Given the description of an element on the screen output the (x, y) to click on. 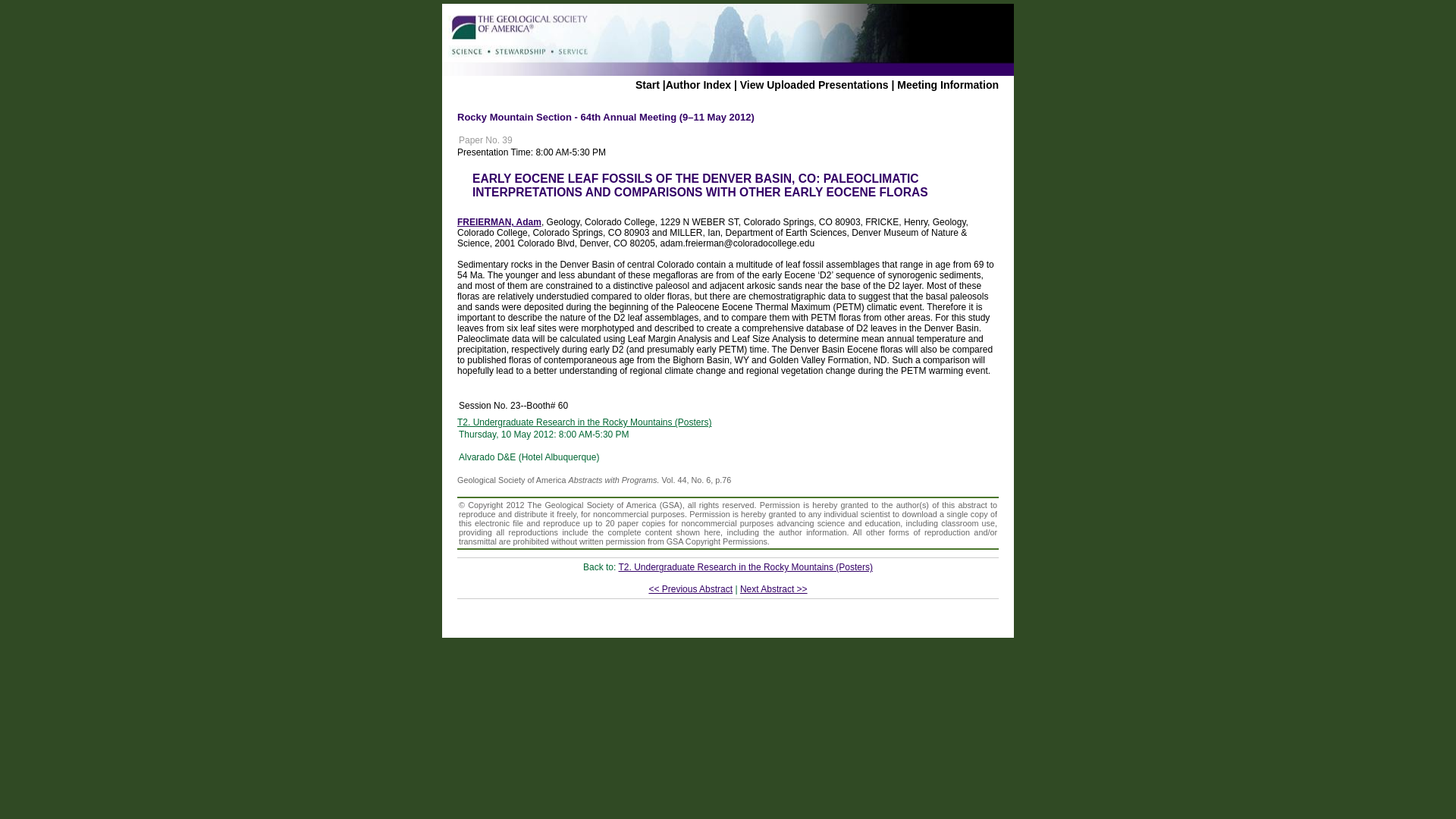
View Uploaded Presentations (813, 84)
Start (646, 84)
FREIERMAN, Adam (499, 222)
Meeting Information (947, 84)
Author Index (697, 84)
